Given the description of an element on the screen output the (x, y) to click on. 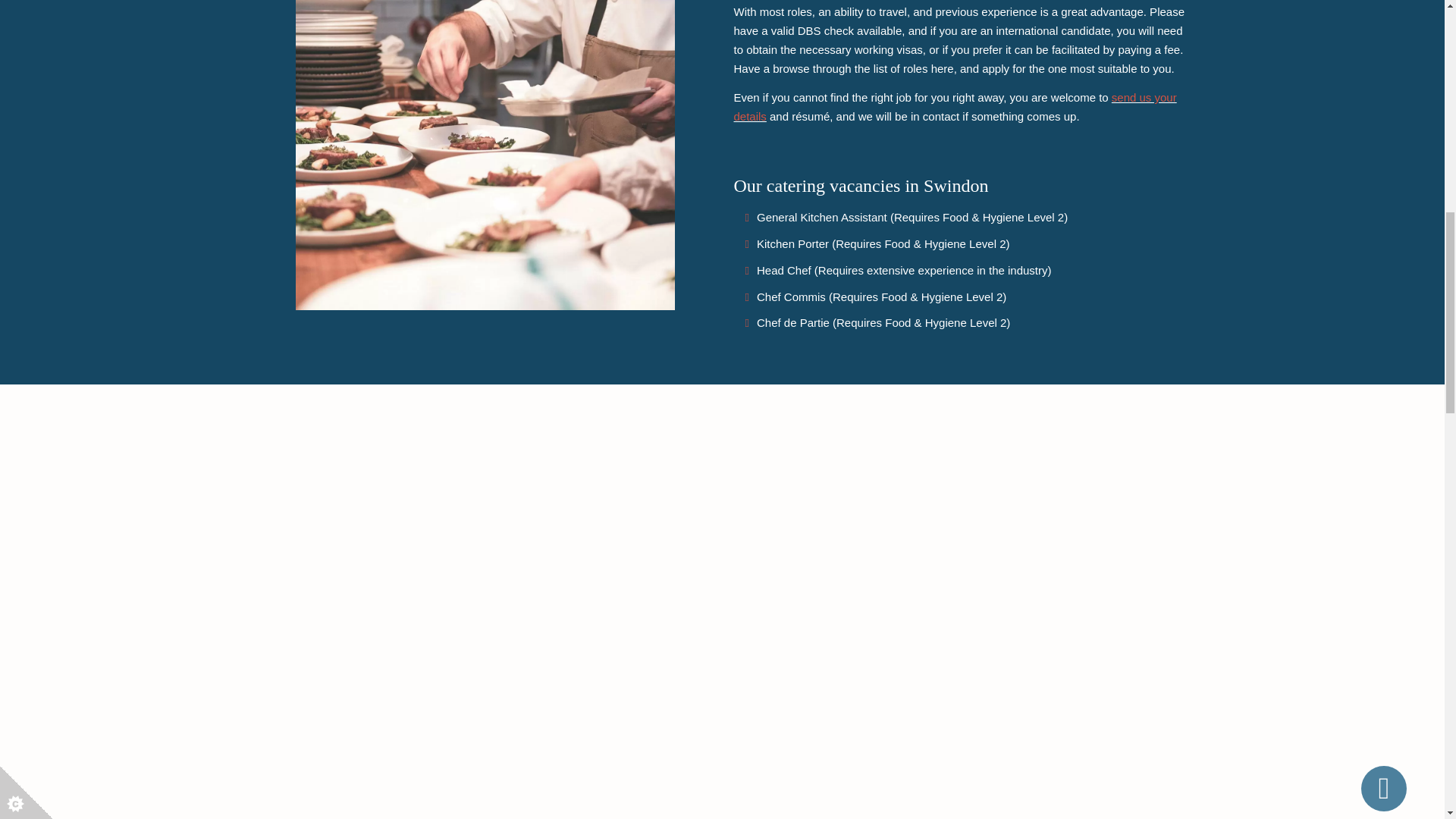
send us your details (954, 106)
